Given the description of an element on the screen output the (x, y) to click on. 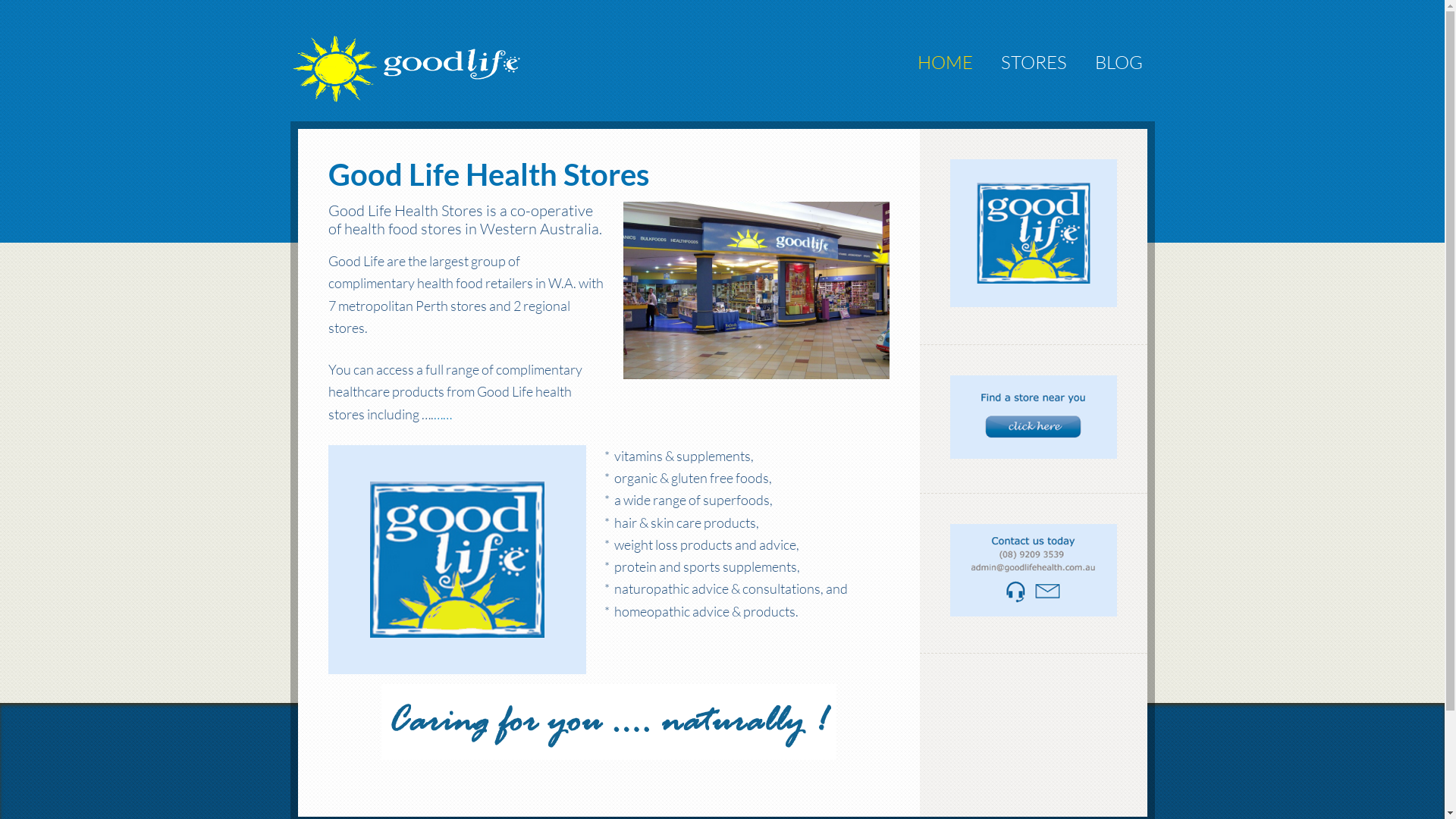
BLOG Element type: text (1118, 62)
STORES Element type: text (1033, 62)
Good Life Health Stores Element type: text (425, 46)
HOME Element type: text (945, 62)
